Given the description of an element on the screen output the (x, y) to click on. 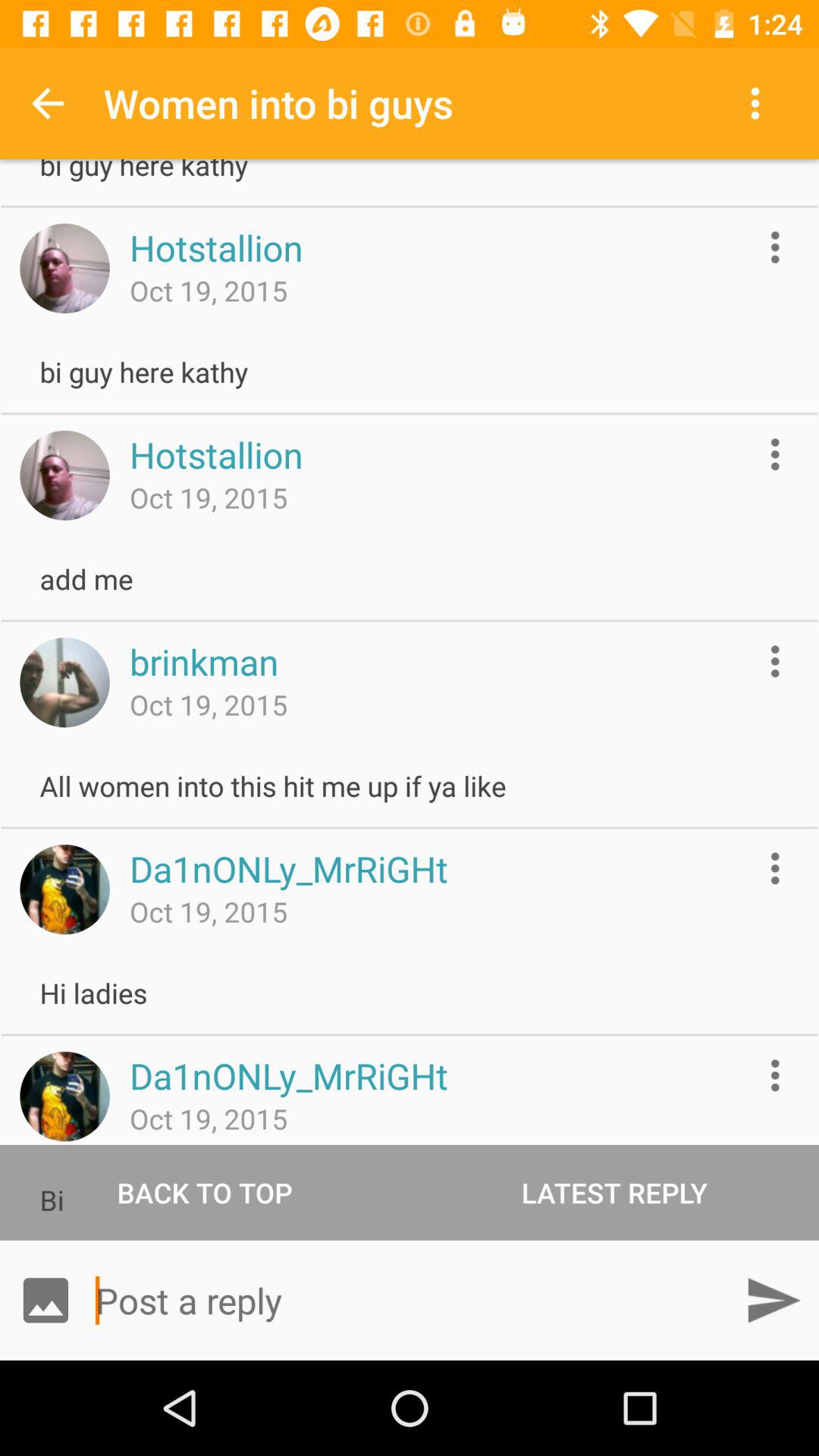
open the icon below the da1nonly_mrright icon (614, 1192)
